Given the description of an element on the screen output the (x, y) to click on. 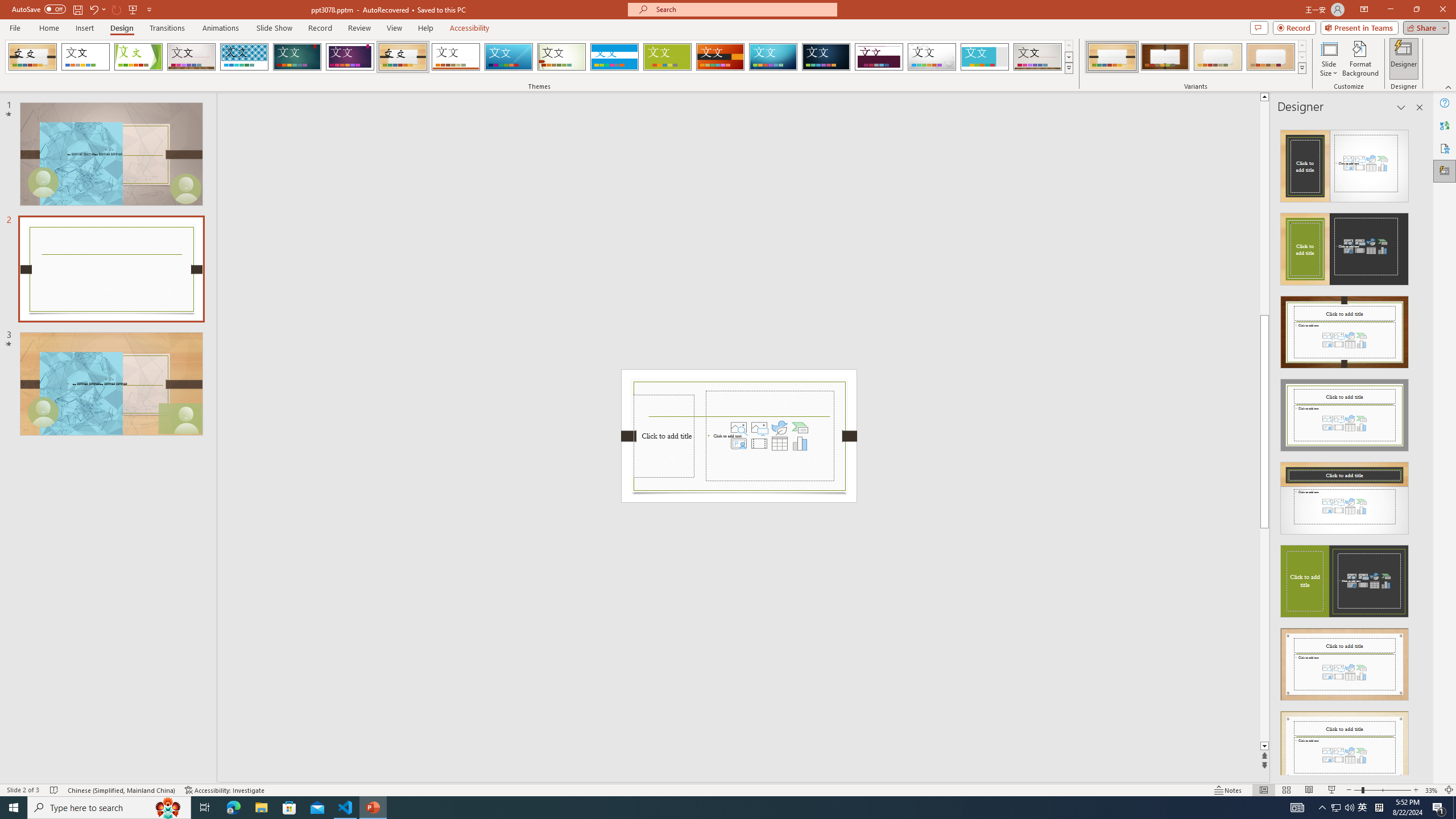
Content Placeholder (770, 435)
Basis (667, 56)
Themes (1068, 67)
Damask (826, 56)
